Given the description of an element on the screen output the (x, y) to click on. 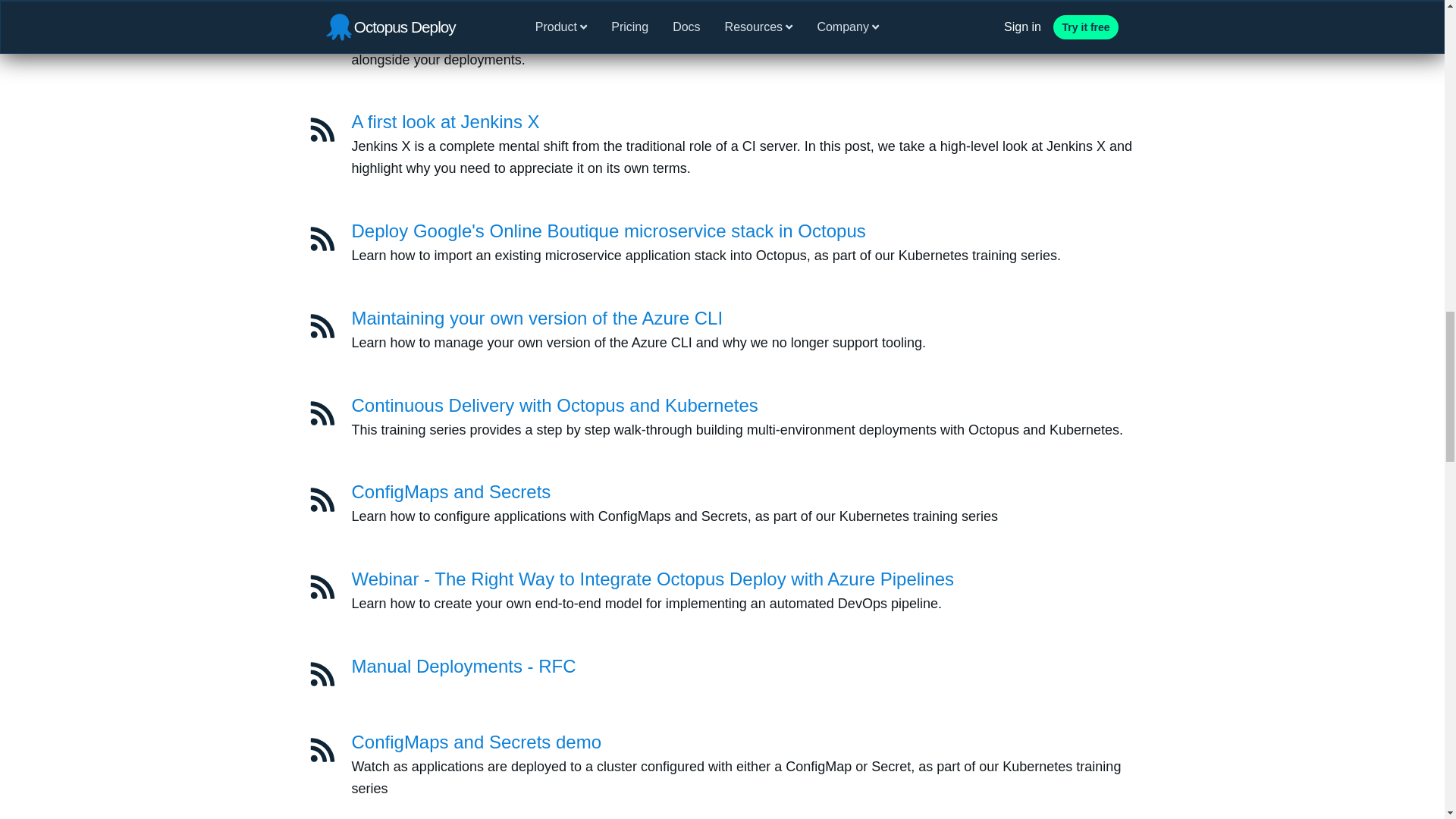
Blog post (321, 21)
Blog post (321, 325)
Blog post (321, 238)
Blog post (321, 238)
Blog post (321, 129)
Blog post (321, 21)
Blog post (321, 129)
